Given the description of an element on the screen output the (x, y) to click on. 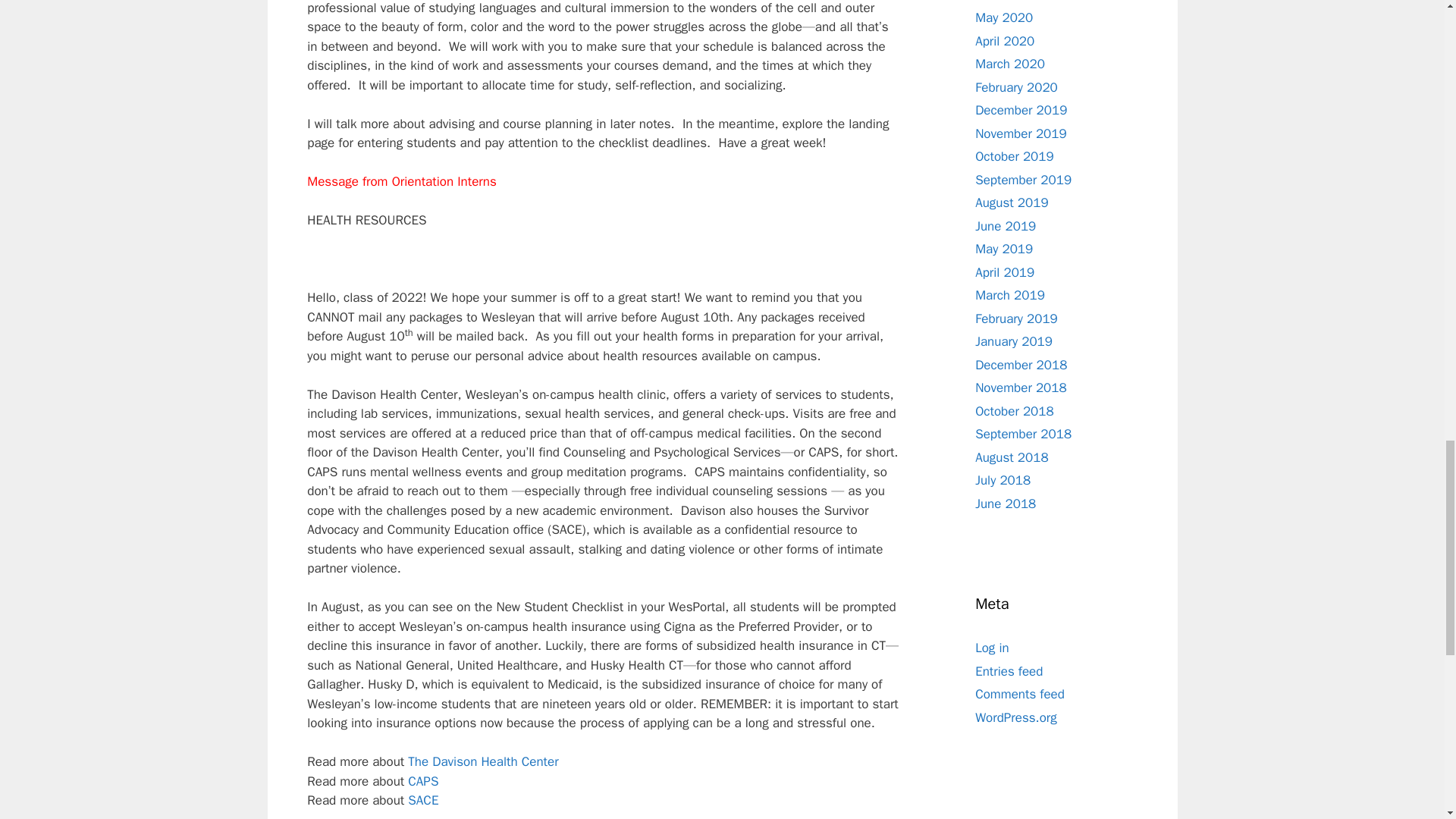
SACE (422, 800)
CAPS (422, 781)
The Davison Health Center (482, 761)
